Given the description of an element on the screen output the (x, y) to click on. 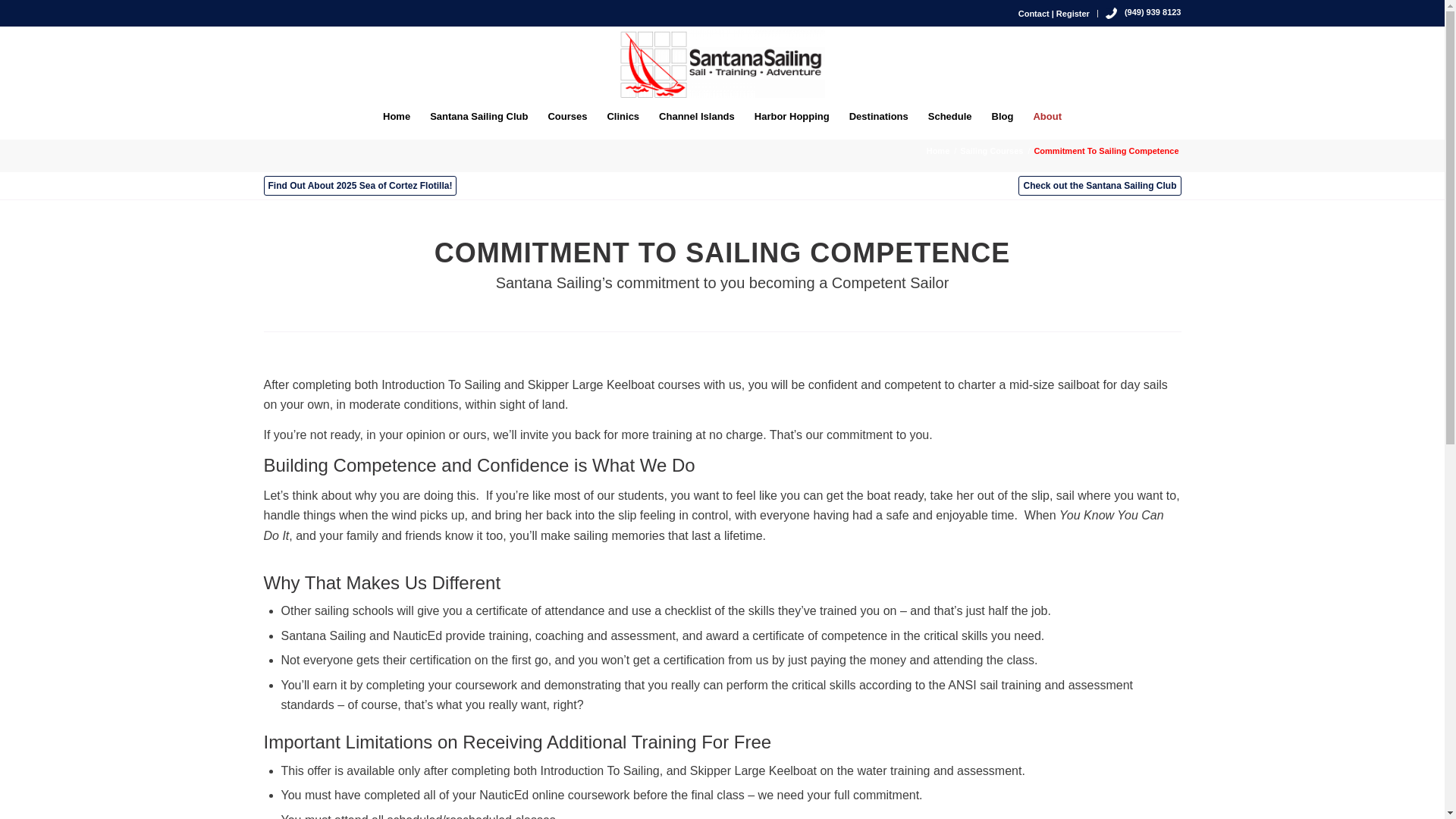
Home (396, 116)
Clinics (622, 116)
Sailing Courses (991, 151)
Santana Sailing Club (478, 116)
Courses (566, 116)
Destinations (879, 116)
Channel Islands (696, 116)
Harbor Hopping (792, 116)
Santana Sailing School (938, 151)
